Given the description of an element on the screen output the (x, y) to click on. 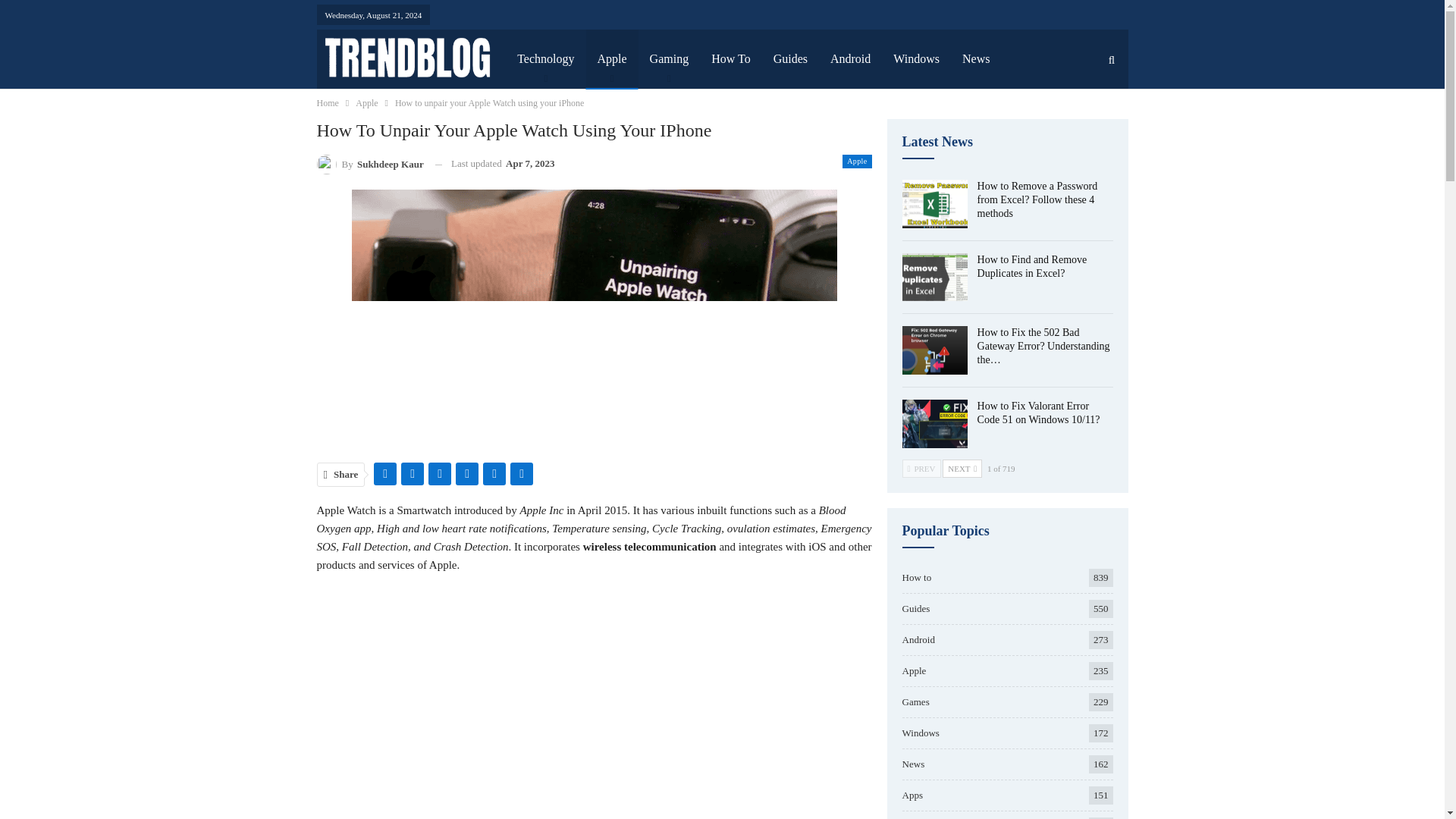
How To (730, 58)
Apple (366, 103)
Windows (916, 58)
Technology (545, 58)
Browse Author Articles (370, 163)
Gaming (669, 58)
Advertisement (594, 718)
Apple (856, 161)
Android (850, 58)
By Sukhdeep Kaur (370, 163)
